Given the description of an element on the screen output the (x, y) to click on. 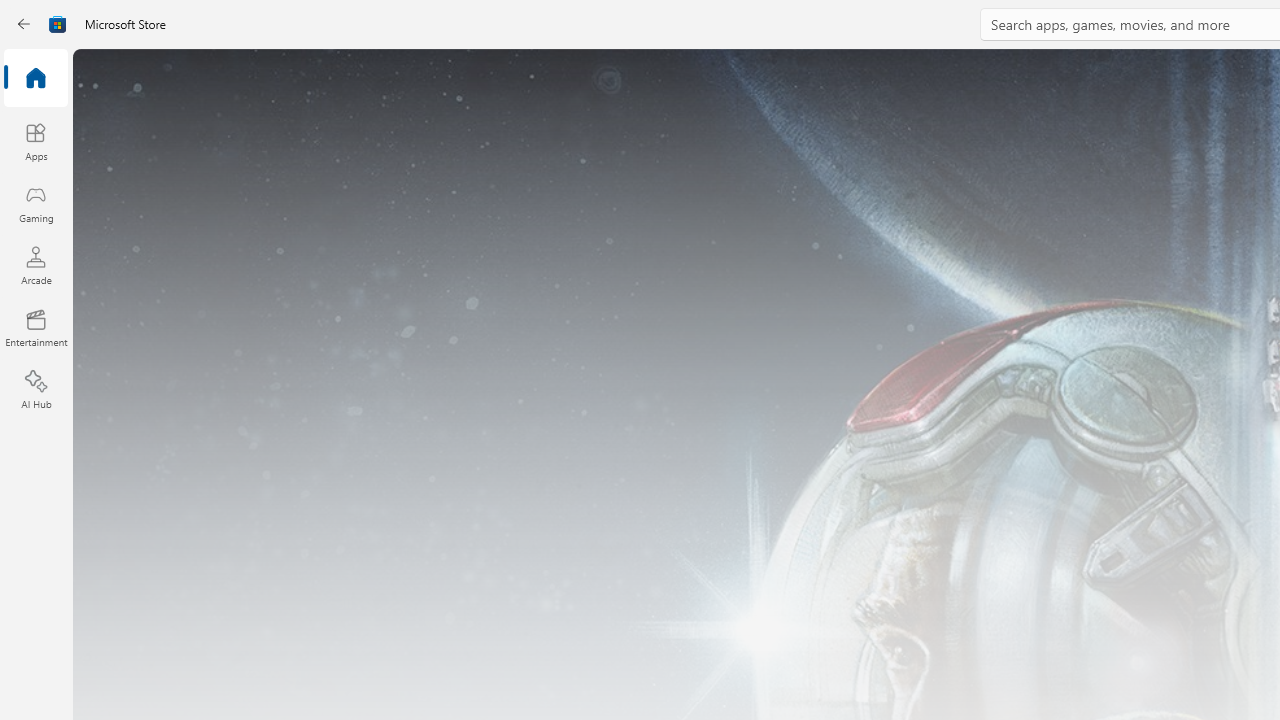
Gaming (35, 203)
Entertainment (35, 327)
Back (24, 24)
Arcade (35, 265)
AI Hub (35, 390)
Class: Image (58, 24)
Apps (35, 141)
Home (35, 79)
